Given the description of an element on the screen output the (x, y) to click on. 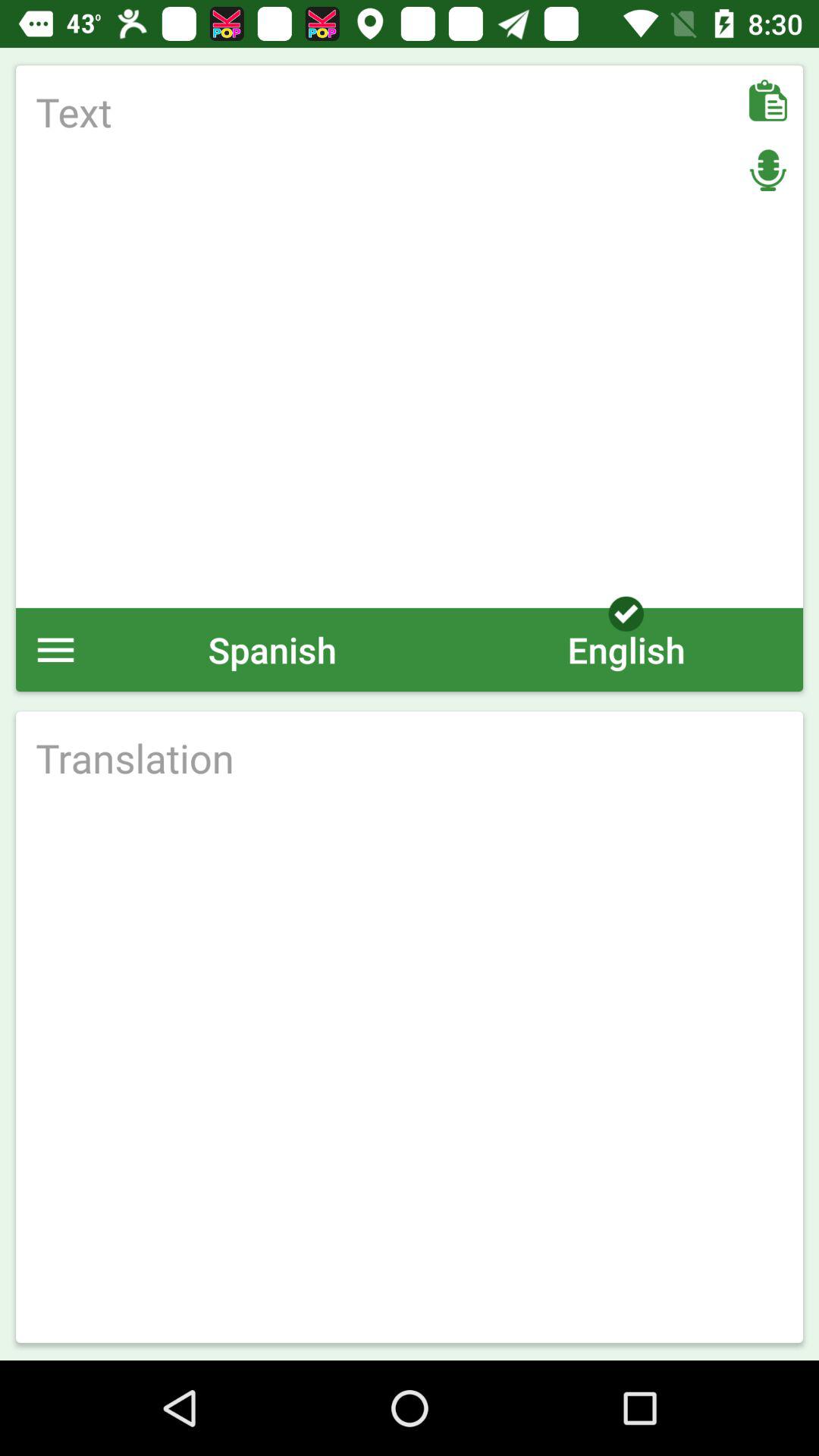
open the english icon (626, 649)
